Given the description of an element on the screen output the (x, y) to click on. 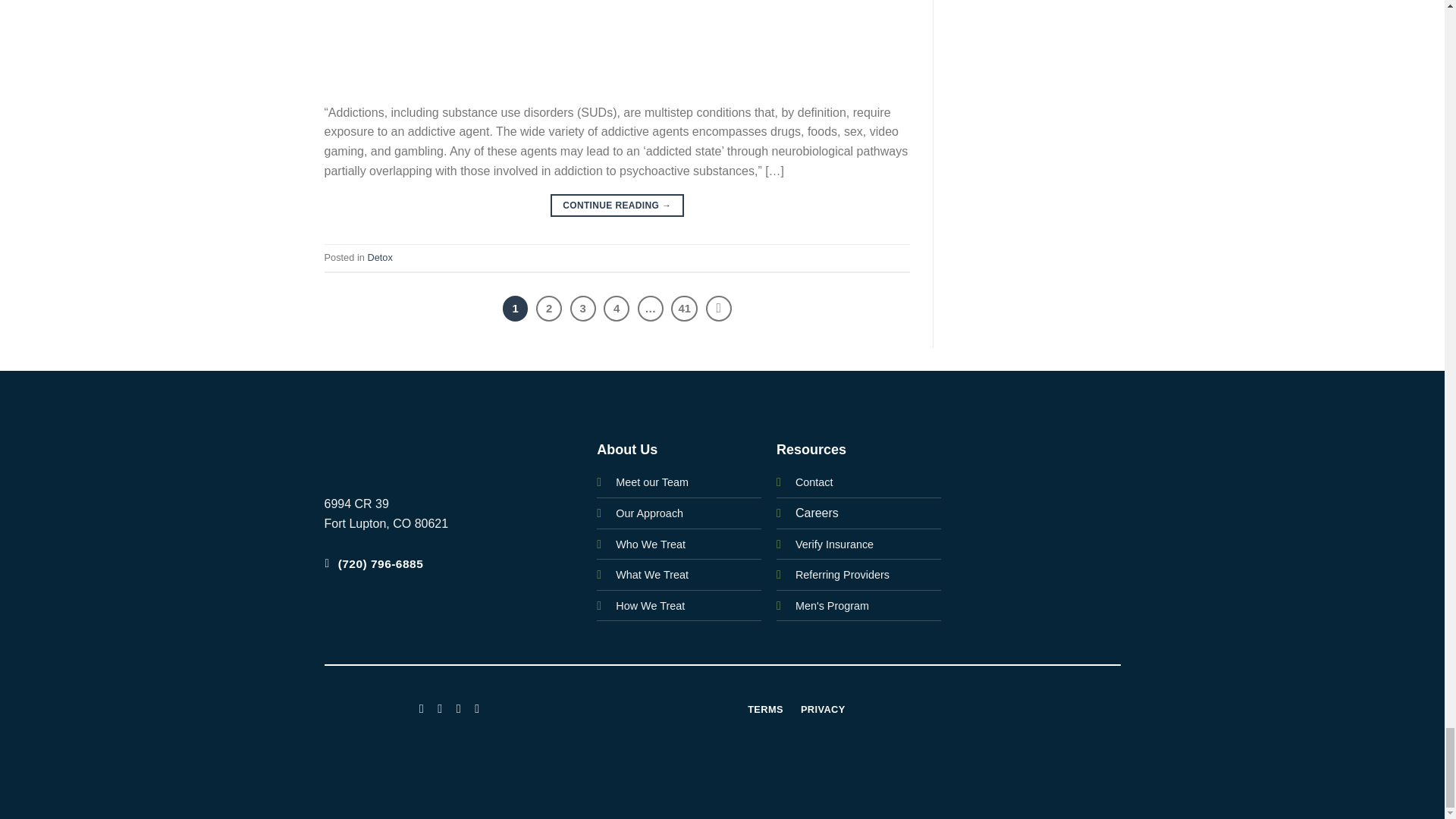
Follow on Facebook (421, 707)
Send us an email (476, 707)
Follow on Twitter (458, 707)
Follow on Instagram (439, 707)
